Given the description of an element on the screen output the (x, y) to click on. 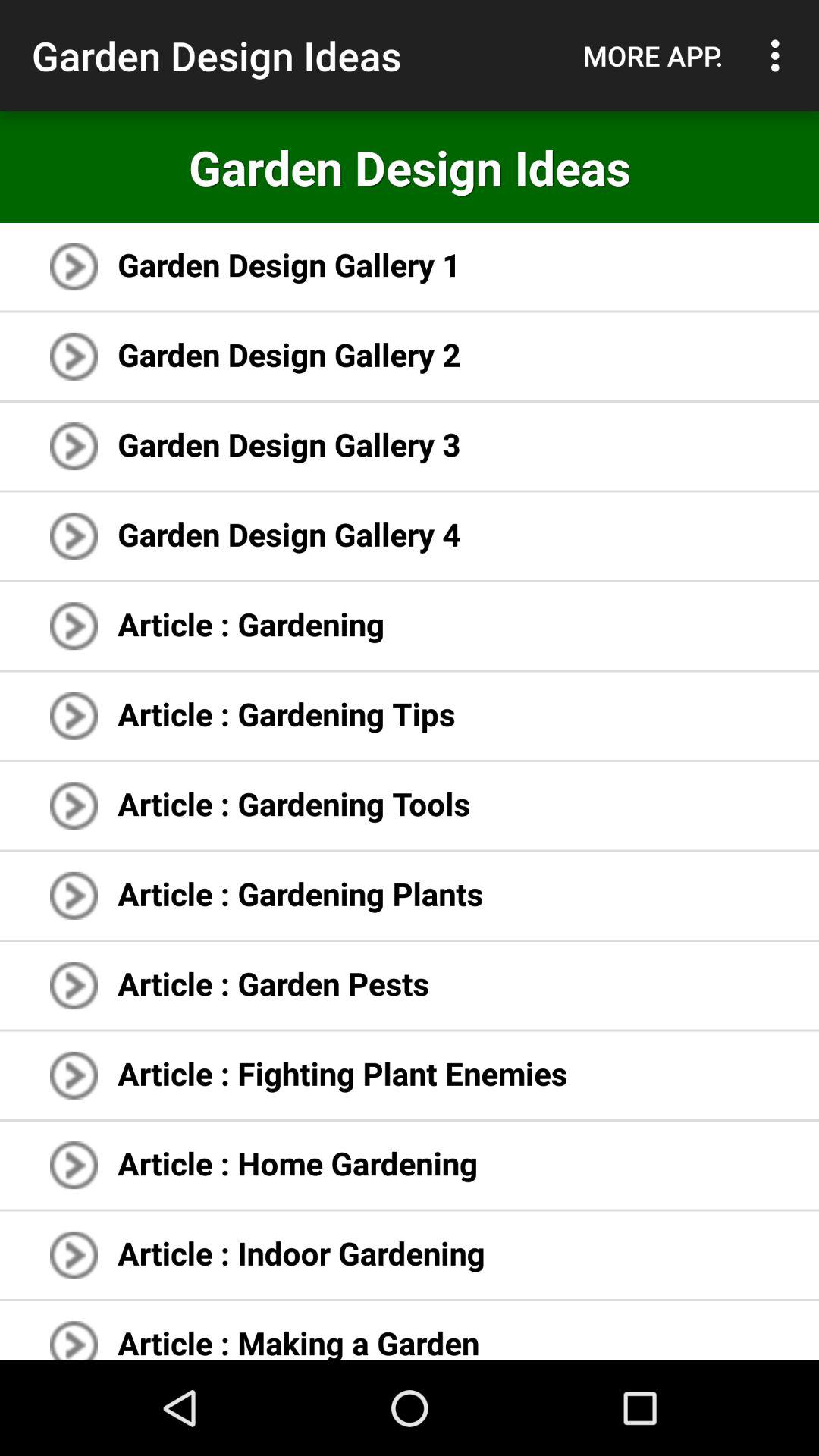
choose the icon above the garden design ideas (653, 55)
